Given the description of an element on the screen output the (x, y) to click on. 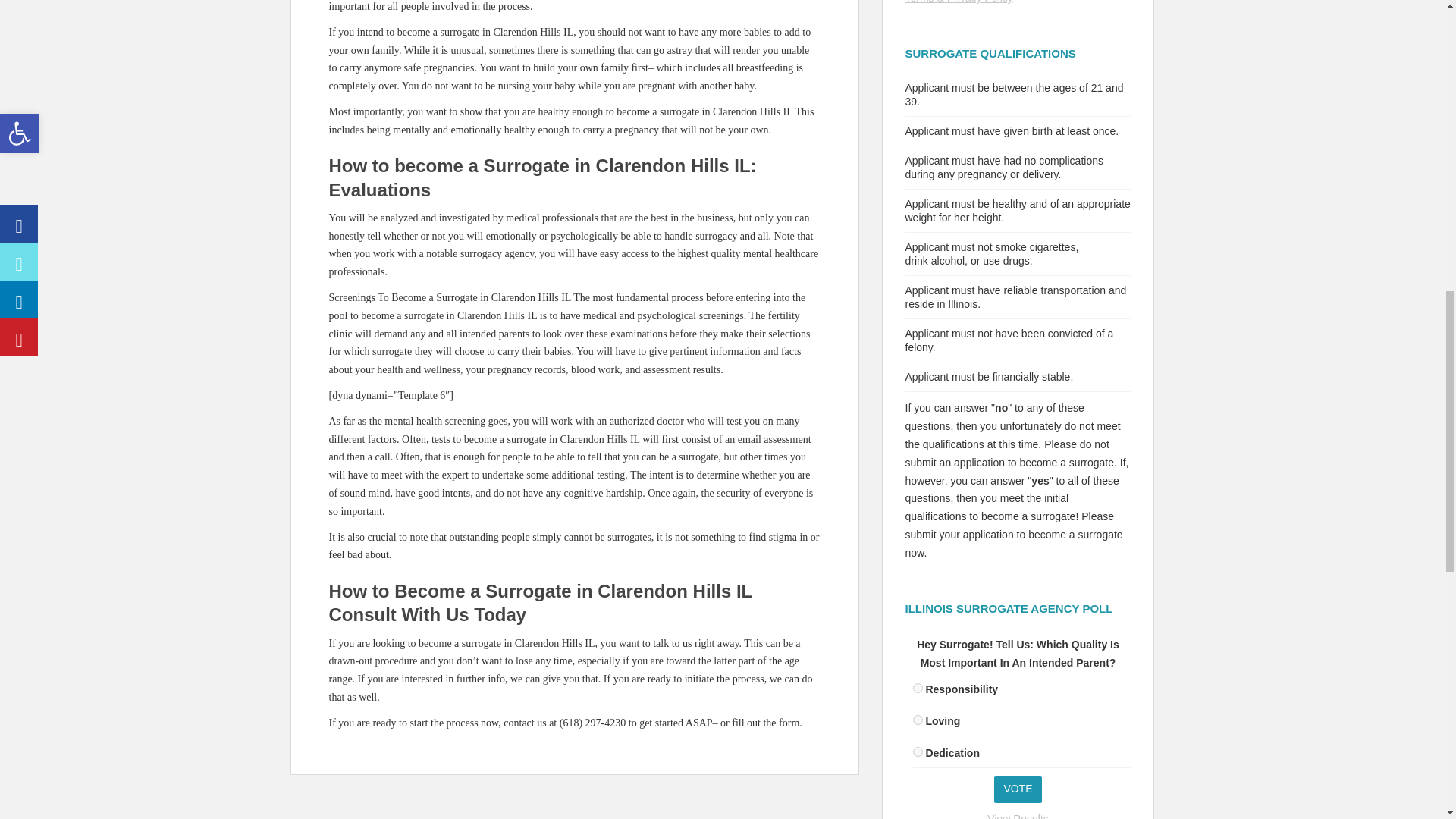
16 (917, 751)
   Vote    (1017, 789)
14 (917, 687)
15 (917, 719)
View Results Of This Poll (1017, 816)
